Given the description of an element on the screen output the (x, y) to click on. 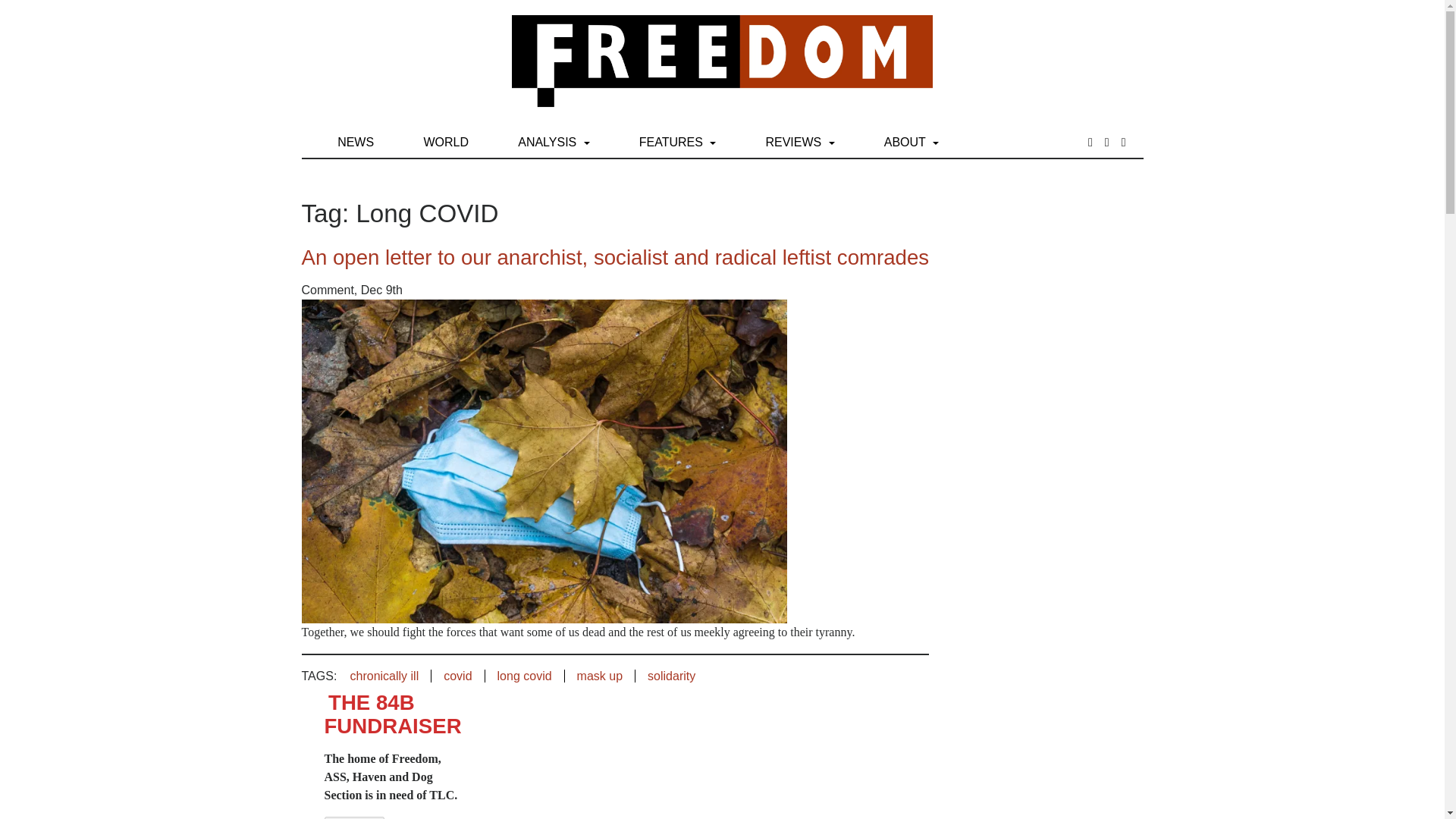
REVIEWS (799, 142)
NEWS (355, 142)
long covid (524, 675)
ABOUT (910, 142)
Features (677, 142)
chronically ill (391, 675)
WORLD (445, 142)
Analysis (553, 142)
World (445, 142)
About (910, 142)
solidarity (670, 676)
Reviews (799, 142)
News (355, 142)
FEATURES (677, 142)
